Given the description of an element on the screen output the (x, y) to click on. 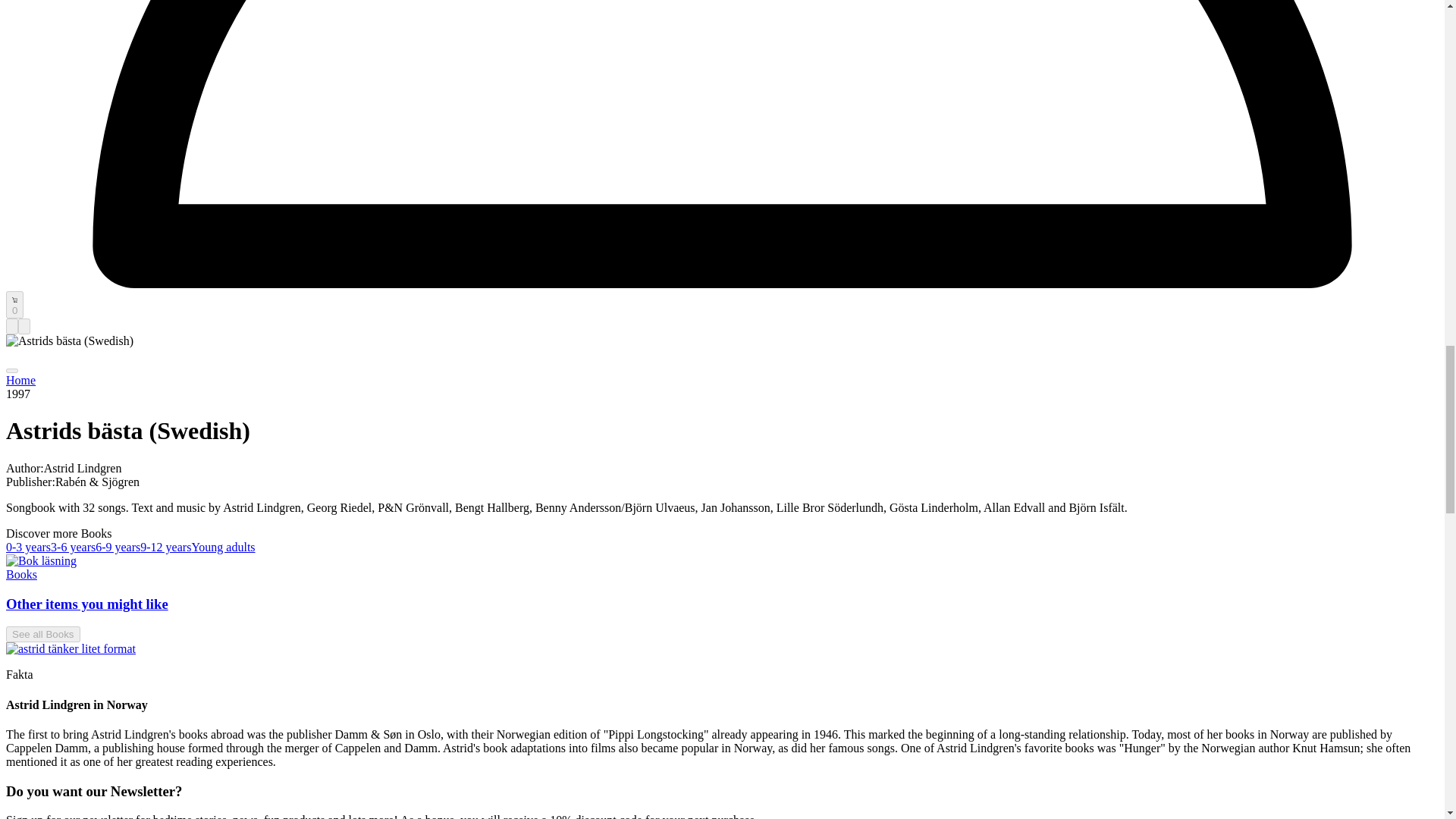
See all Books (42, 634)
9-12 years (164, 546)
0-3 years (27, 546)
6-9 years (117, 546)
Home (19, 379)
3-6 years (73, 546)
Young adults (222, 546)
